Given the description of an element on the screen output the (x, y) to click on. 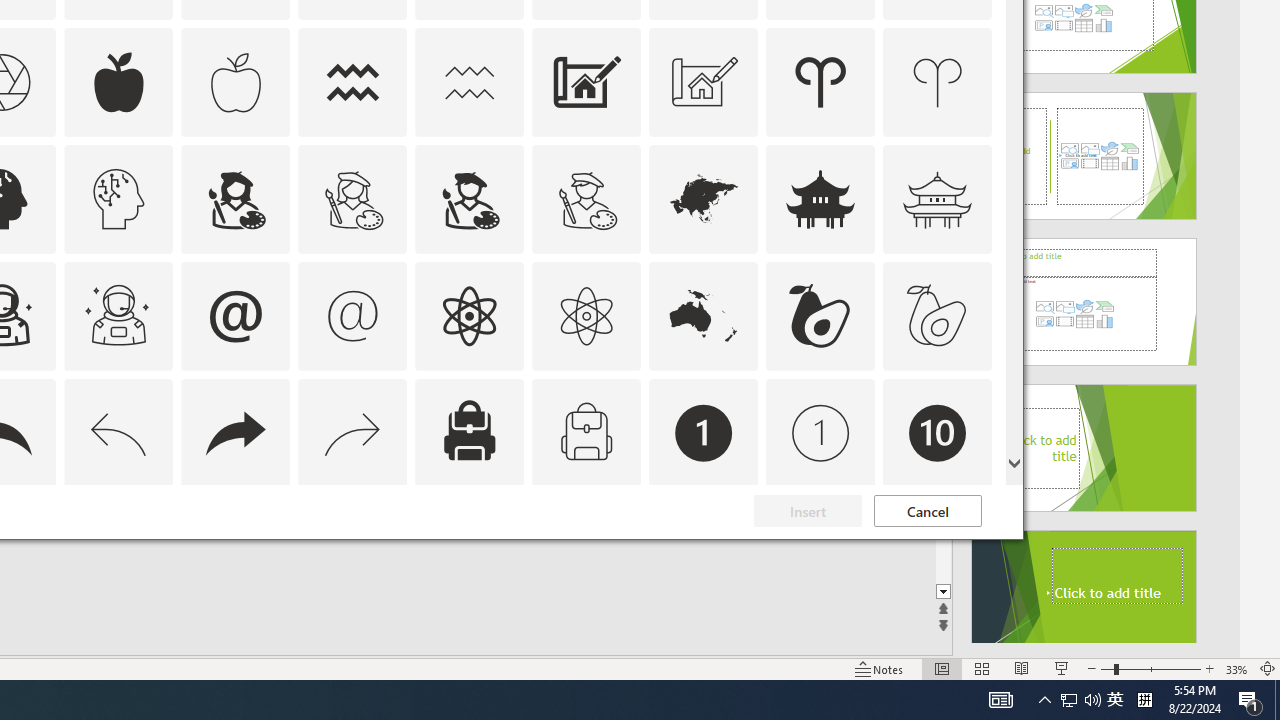
AutomationID: Icons_AsianTemple_M (938, 198)
AutomationID: Icons (937, 550)
IME Mode Icon - IME is disabled (1115, 699)
AutomationID: Icons_Badge9_M (938, 550)
AutomationID: Icons_Aries_M (938, 82)
AutomationID: Icons_Badge7_M (469, 550)
AutomationID: Icons_Back_LTR_M (118, 432)
